Given the description of an element on the screen output the (x, y) to click on. 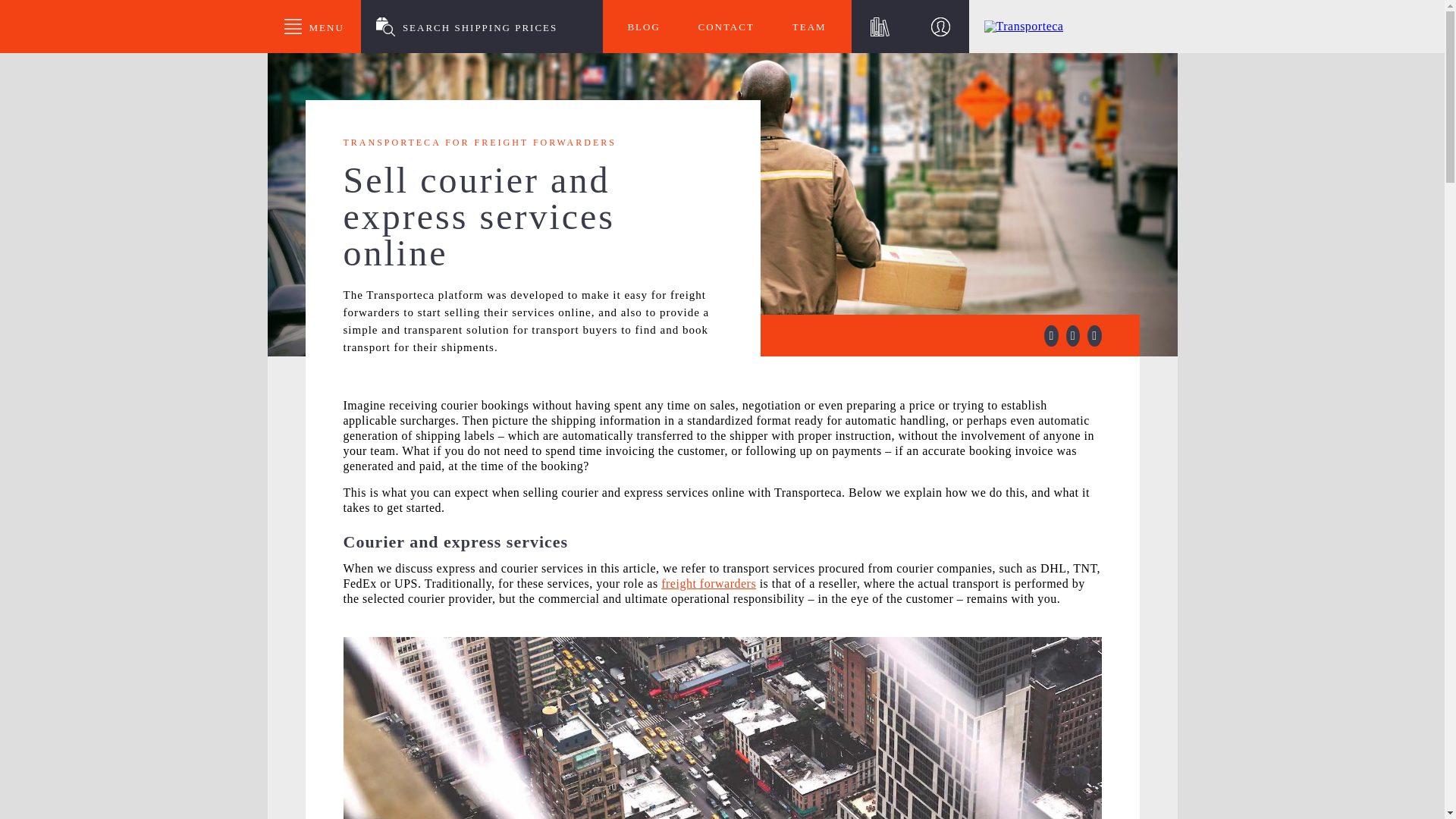
CONTACT (725, 26)
BLOG (643, 26)
freight forwarders (708, 583)
TEAM (809, 26)
